Given the description of an element on the screen output the (x, y) to click on. 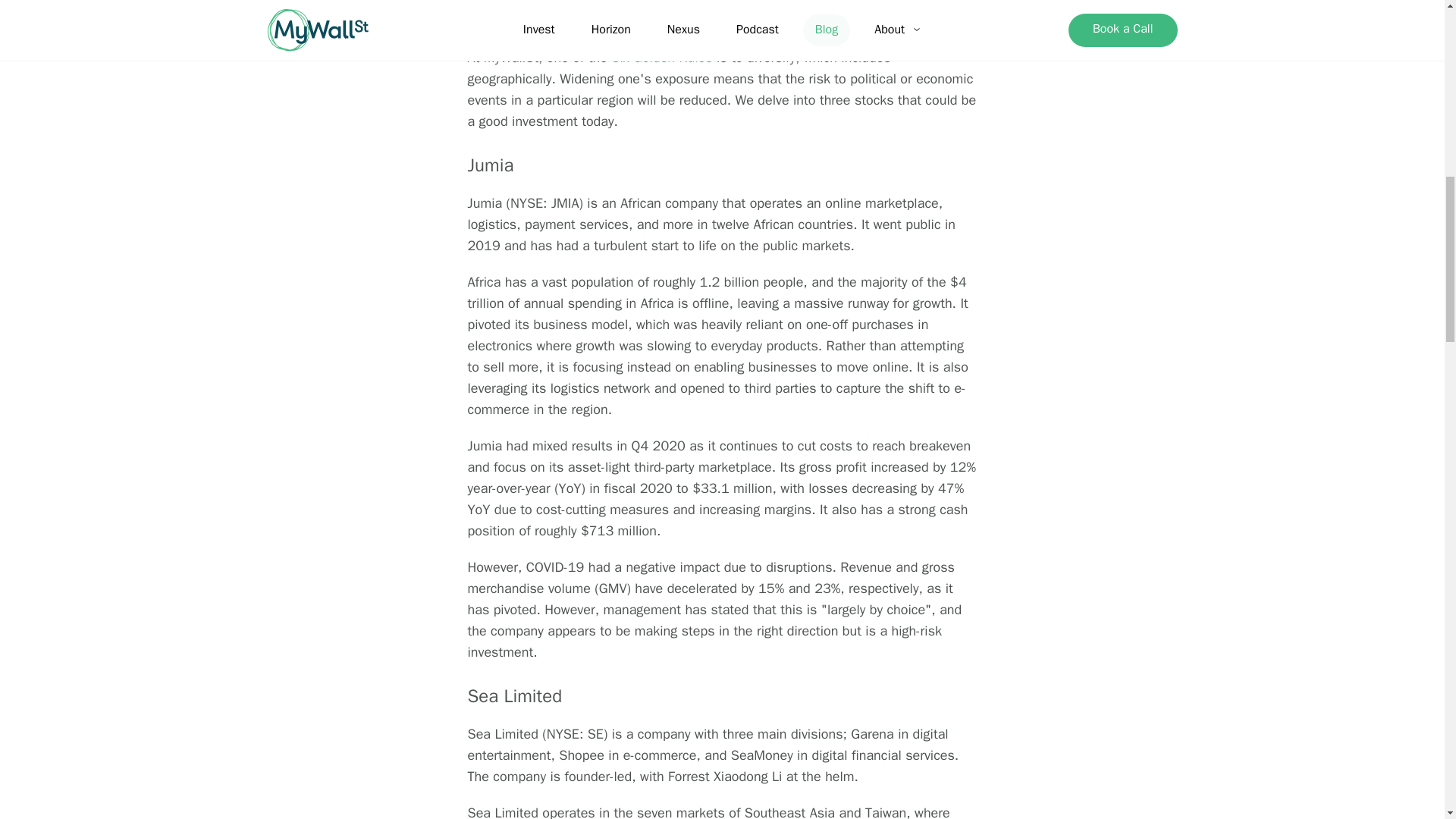
Six Golden Rules (661, 57)
